Given the description of an element on the screen output the (x, y) to click on. 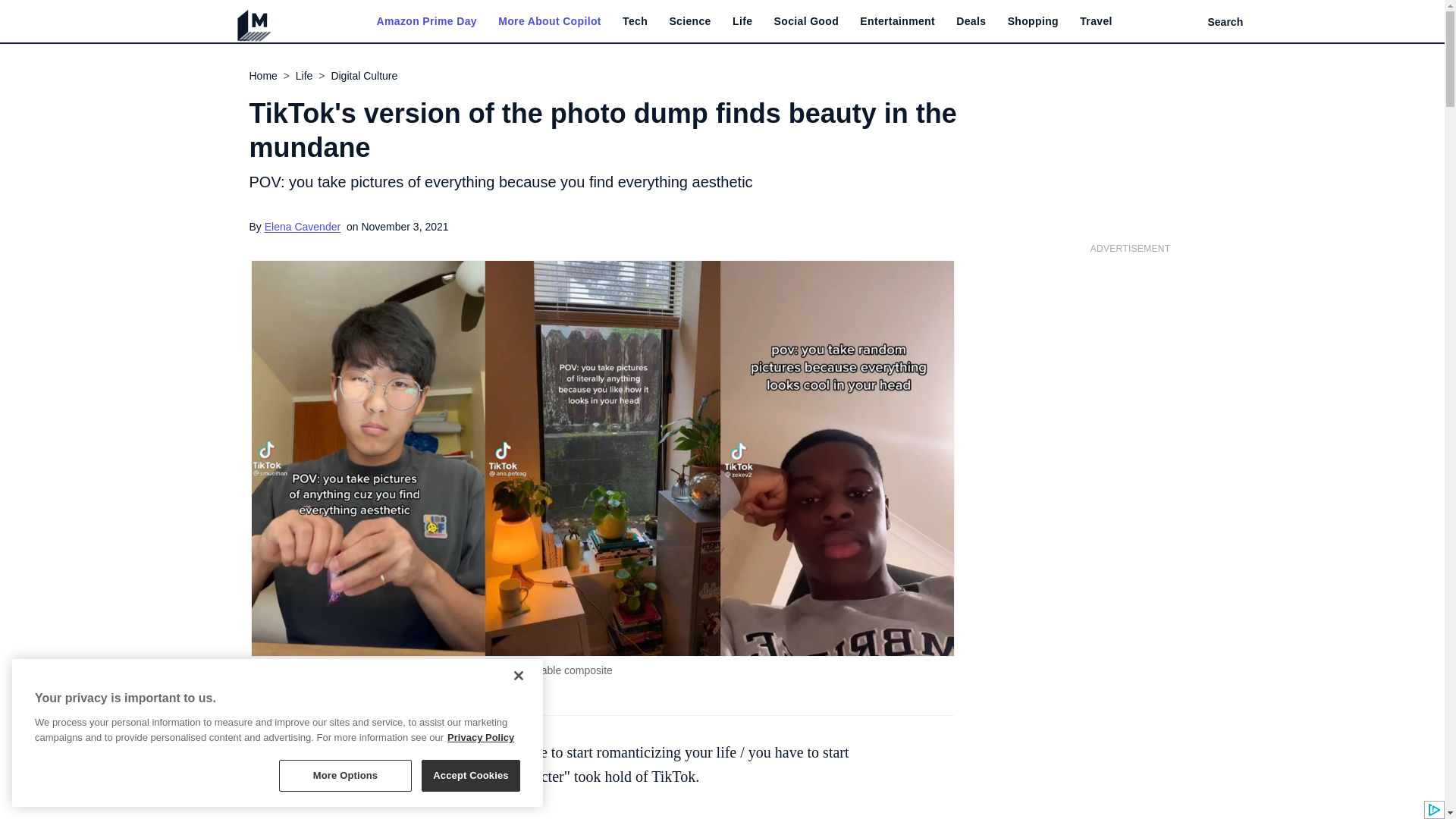
Tech (635, 21)
Travel (1096, 21)
Social Good (807, 21)
Deals (970, 21)
Entertainment (897, 21)
Life (742, 21)
Science (689, 21)
Amazon Prime Day (425, 21)
More About Copilot (549, 21)
Shopping (1032, 21)
